Given the description of an element on the screen output the (x, y) to click on. 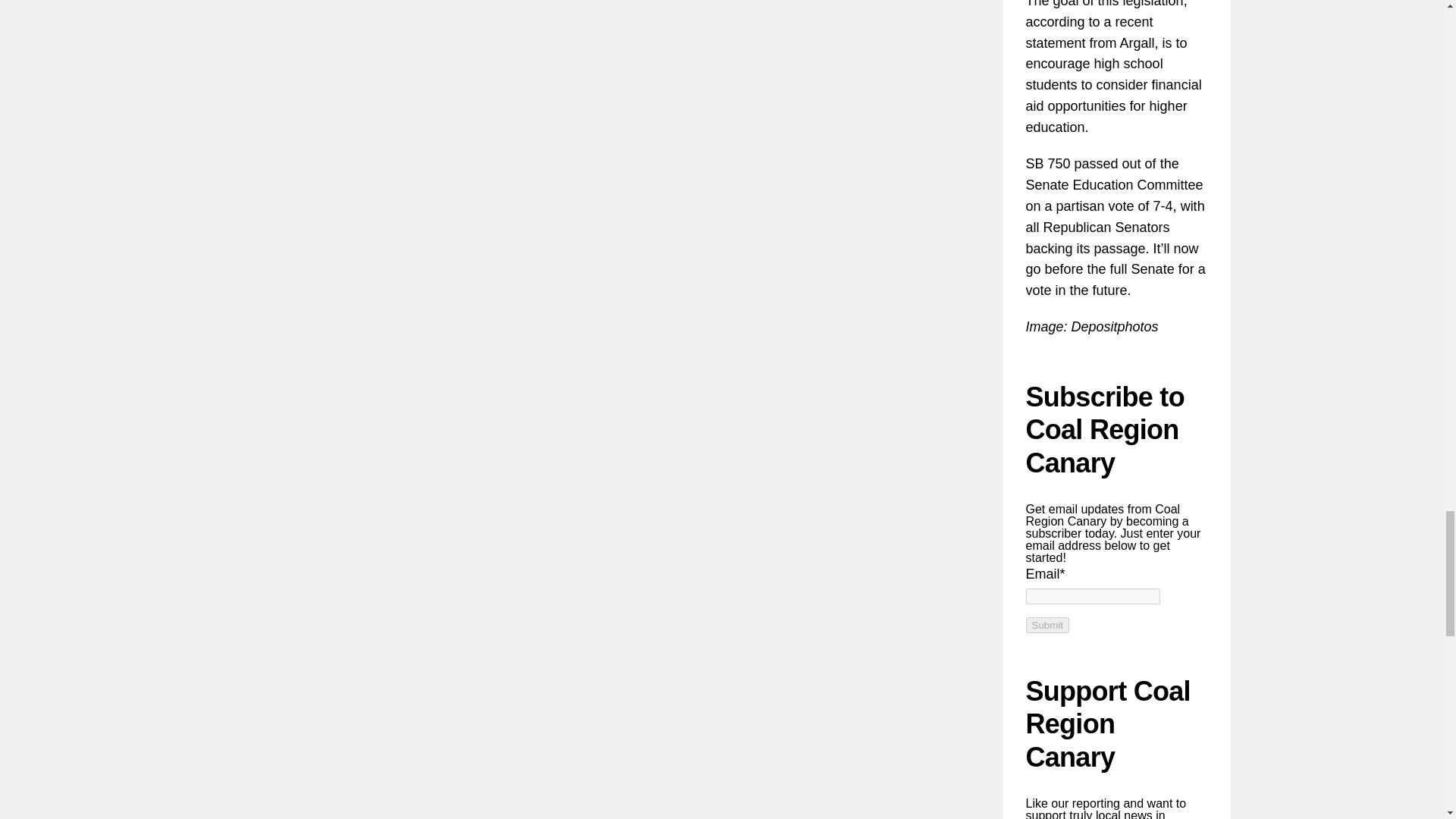
Submit (1046, 625)
